Given the description of an element on the screen output the (x, y) to click on. 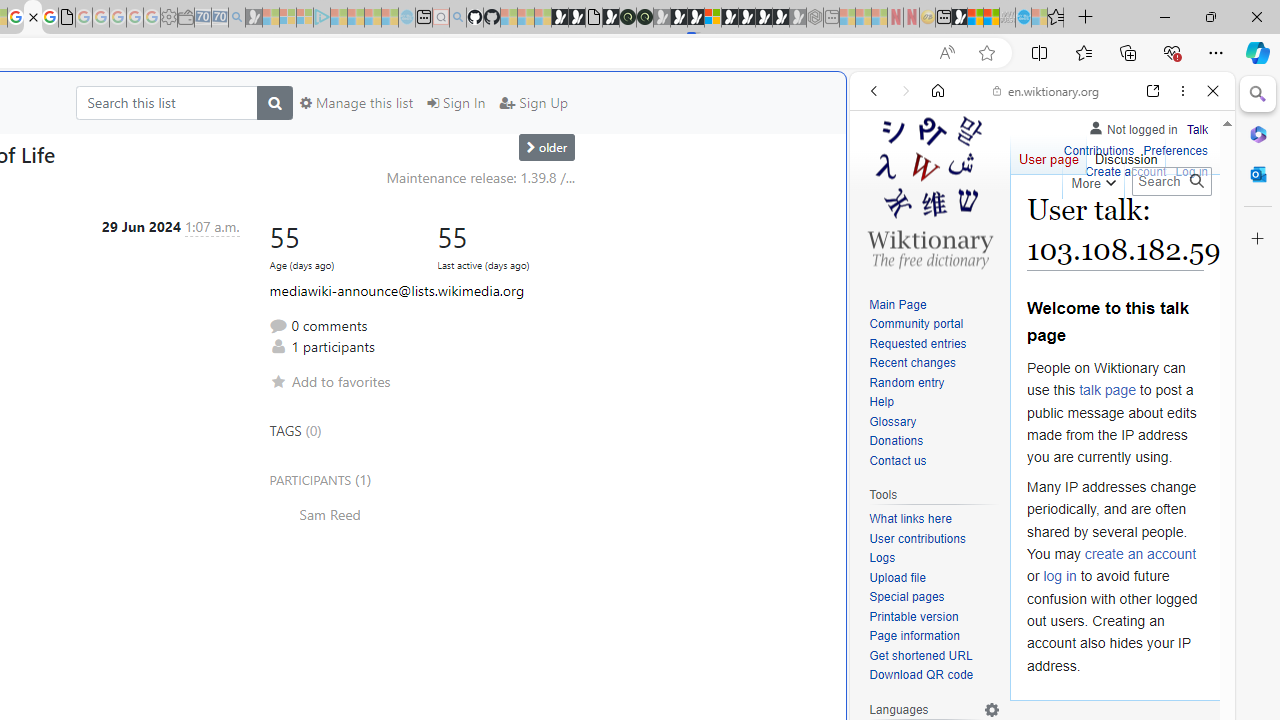
Discussion (1125, 154)
Preferences (1175, 148)
Talk (1197, 126)
Contact us (934, 461)
